Given the description of an element on the screen output the (x, y) to click on. 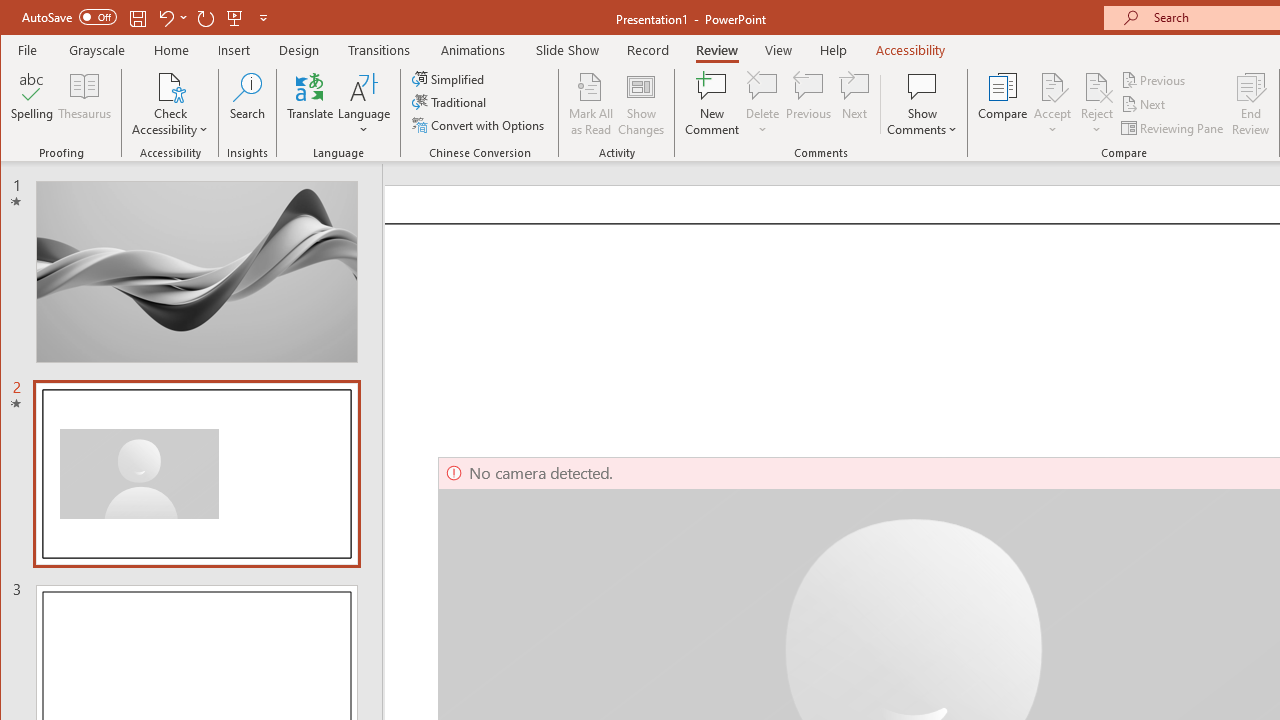
Language (363, 104)
Mark All as Read (591, 104)
Convert with Options... (479, 124)
New Comment (712, 104)
Traditional (450, 101)
